Given the description of an element on the screen output the (x, y) to click on. 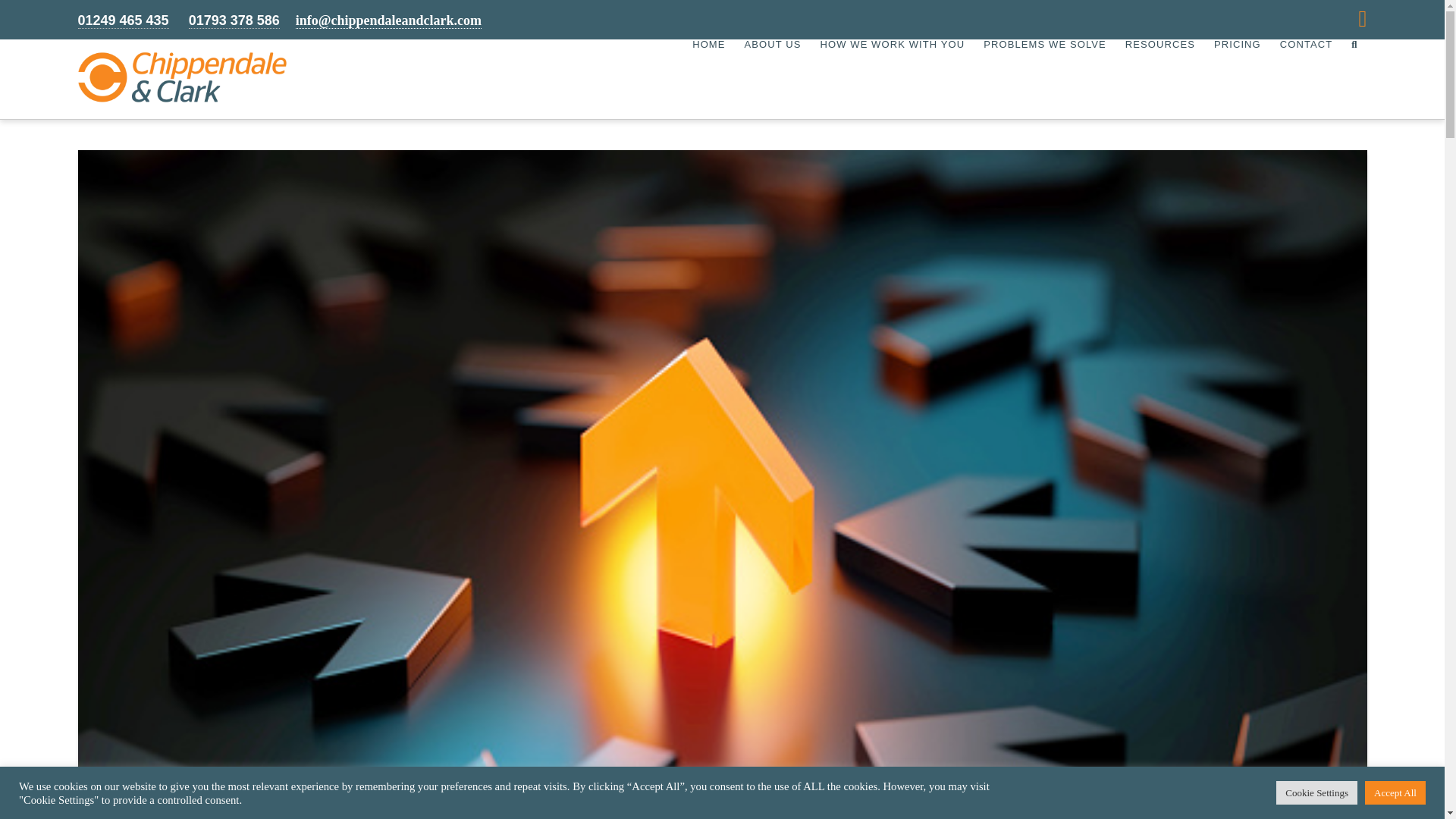
LinkedIn (1362, 18)
PRICING (1236, 78)
01249 465 435 (122, 20)
ABOUT US (771, 78)
HOME (707, 78)
HOW WE WORK WITH YOU (891, 78)
PROBLEMS WE SOLVE (1044, 78)
01793 378 586 (234, 20)
CONTACT (1305, 78)
RESOURCES (1159, 78)
